Given the description of an element on the screen output the (x, y) to click on. 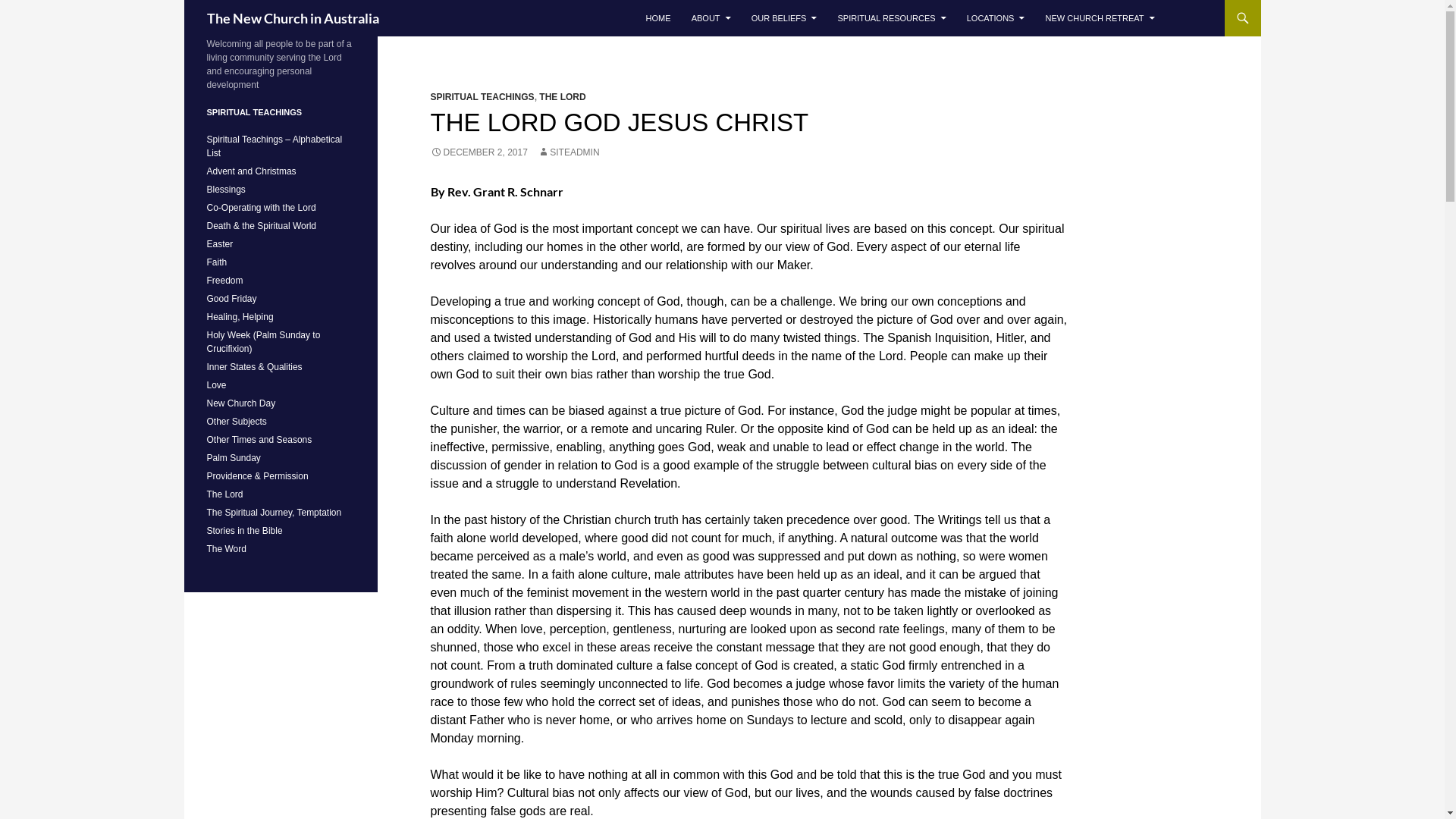
The Spiritual Journey, Temptation Element type: text (273, 512)
Holy Week (Palm Sunday to Crucifixion) Element type: text (263, 341)
Easter Element type: text (219, 243)
Advent and Christmas Element type: text (250, 171)
THE LORD Element type: text (562, 96)
Faith Element type: text (216, 262)
Palm Sunday Element type: text (233, 457)
OUR BELIEFS Element type: text (784, 18)
The New Church in Australia Element type: text (292, 18)
Good Friday Element type: text (231, 298)
Blessings Element type: text (225, 189)
SPIRITUAL TEACHINGS Element type: text (482, 96)
DECEMBER 2, 2017 Element type: text (478, 152)
Other Subjects Element type: text (236, 421)
SITEADMIN Element type: text (568, 152)
HOME Element type: text (658, 18)
Freedom Element type: text (224, 280)
Love Element type: text (215, 384)
Death & the Spiritual World Element type: text (261, 225)
The Word Element type: text (225, 548)
New Church Day Element type: text (240, 403)
NEW CHURCH RETREAT Element type: text (1100, 18)
ABOUT Element type: text (711, 18)
Providence & Permission Element type: text (256, 475)
LOCATIONS Element type: text (995, 18)
SPIRITUAL RESOURCES Element type: text (891, 18)
Healing, Helping Element type: text (239, 316)
Inner States & Qualities Element type: text (253, 366)
Stories in the Bible Element type: text (244, 530)
The Lord Element type: text (224, 494)
Other Times and Seasons Element type: text (258, 439)
Co-Operating with the Lord Element type: text (260, 207)
